Given the description of an element on the screen output the (x, y) to click on. 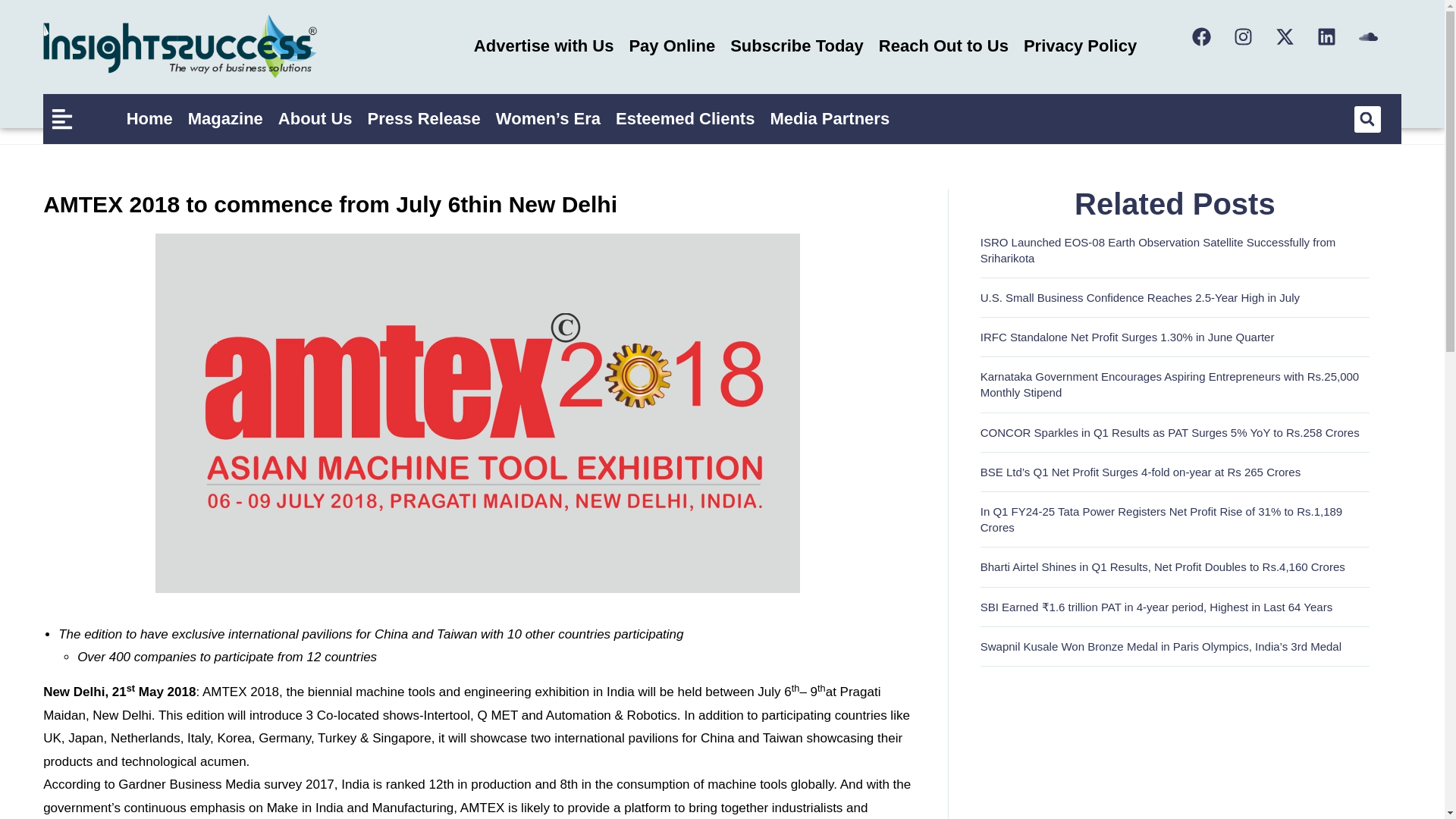
About Us (314, 118)
Advertise with Us (543, 45)
Reach Out to Us (943, 45)
Subscribe Today (796, 45)
Magazine (225, 118)
Home (149, 118)
Privacy Policy (1080, 45)
Pay Online (671, 45)
Media Partners (828, 118)
Press Release (423, 118)
